Given the description of an element on the screen output the (x, y) to click on. 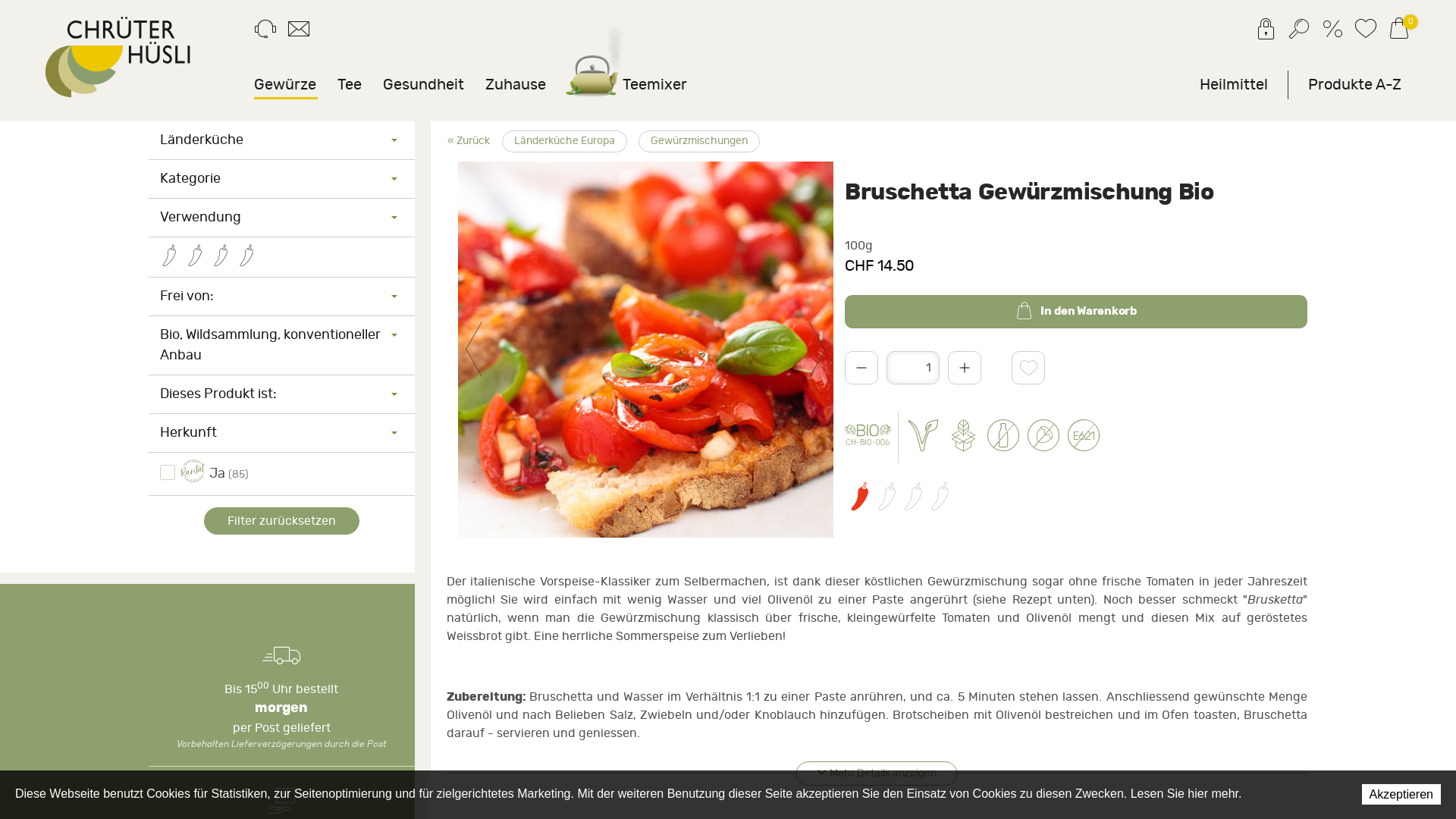
Mehr Details anzeigen Element type: text (876, 773)
Kategorie Element type: text (281, 178)
Verwendung Element type: text (281, 217)
Herkunft Element type: text (281, 432)
Bio Element type: text (867, 437)
+ Element type: text (964, 367)
In den Warenkorb Element type: text (1075, 311)
Glutamat Element type: text (1083, 437)
Promo Element type: text (1332, 32)
E-mail Element type: text (298, 32)
Kontakt Element type: text (265, 32)
Akzeptieren Element type: text (1401, 794)
Weiter Element type: text (817, 349)
Heilmittel Element type: text (1234, 84)
Gesundheit Element type: text (423, 84)
Zuhause Element type: text (515, 84)
Bio, Wildsammlung, konventioneller Anbau Element type: text (281, 345)
Suchen Element type: text (1298, 32)
Produkte A-Z Element type: text (1354, 84)
Laktose Element type: text (1003, 437)
Frei von: Element type: text (281, 296)
Merkliste Element type: text (1365, 32)
Dieses Produkt ist: Element type: text (281, 394)
Vegan Element type: text (923, 437)
Tee Element type: text (349, 84)
Teemixer Element type: text (626, 84)
Anmeldung Element type: text (1265, 32)
Warenkorb
0 Element type: text (1398, 31)
- Element type: text (861, 367)
